Given the description of an element on the screen output the (x, y) to click on. 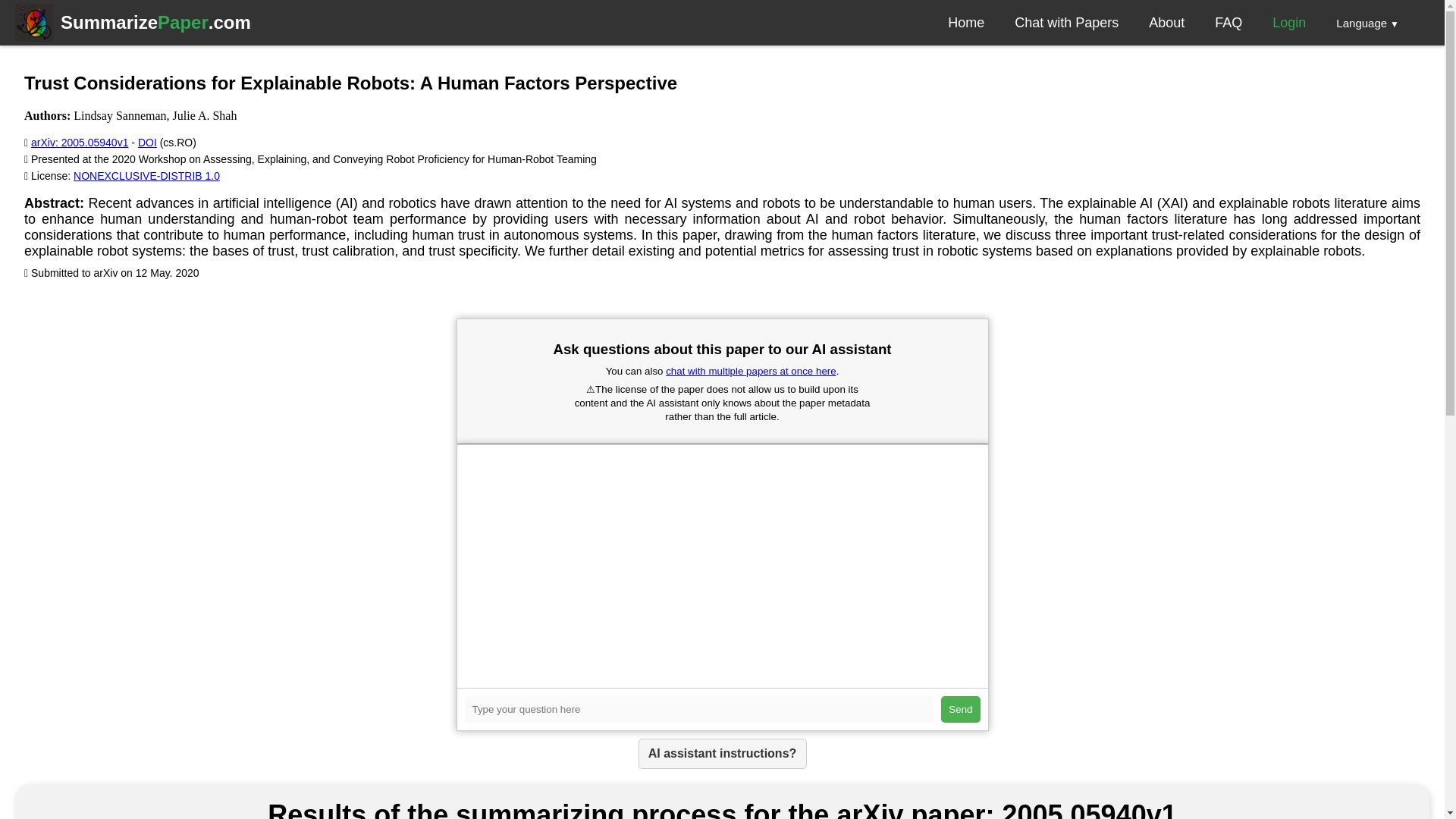
Login (1289, 22)
Chat with Papers (1066, 22)
arXiv: 2005.05940v1 (155, 22)
NONEXCLUSIVE-DISTRIB 1.0 (79, 142)
Home (146, 175)
DOI (965, 22)
About (147, 142)
Send (1166, 22)
chat with multiple papers at once here (959, 709)
